Given the description of an element on the screen output the (x, y) to click on. 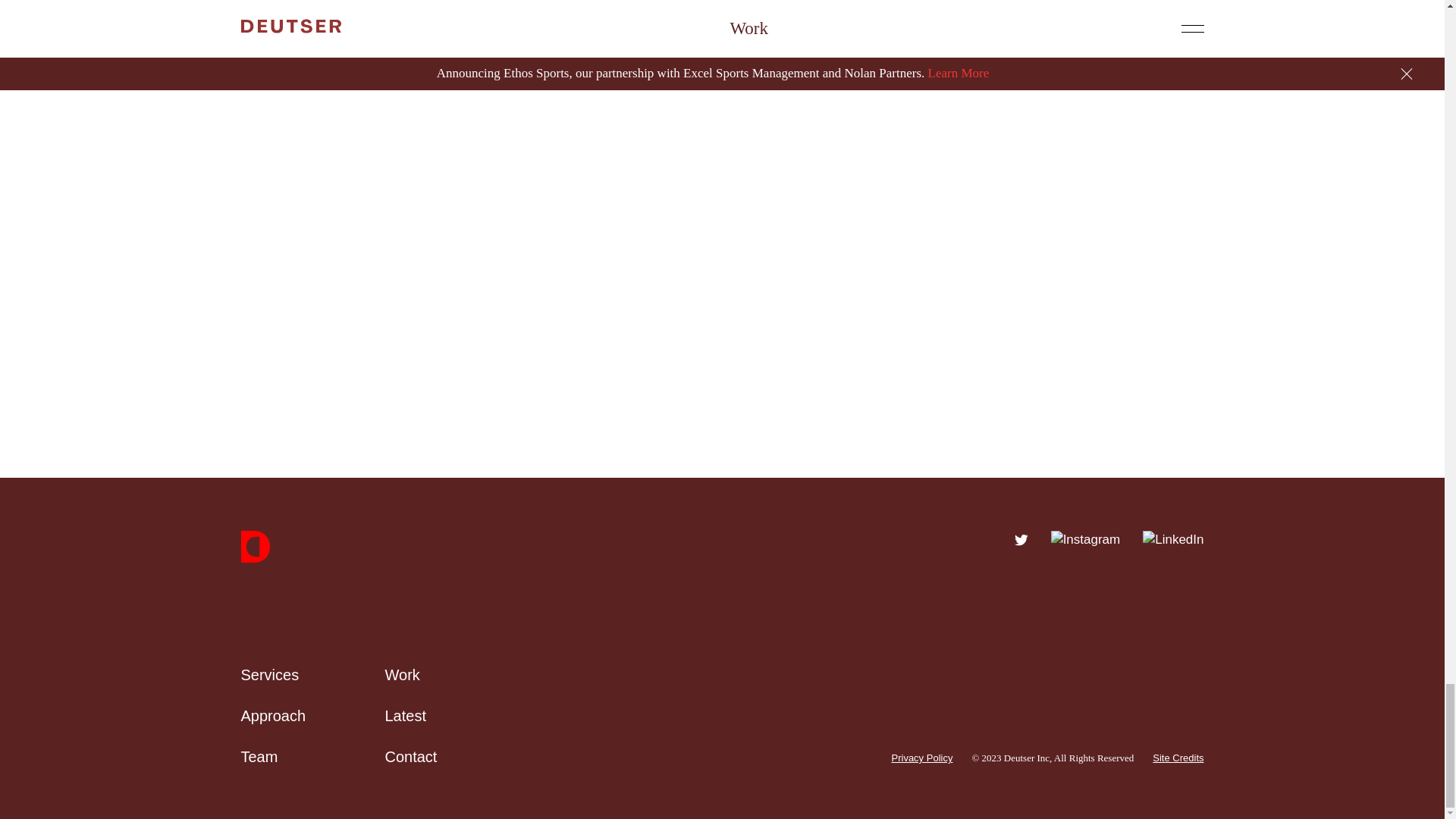
Contact (411, 756)
Latest (405, 715)
Privacy Policy (922, 757)
Let's Chat (721, 306)
Work (402, 674)
Approach (273, 715)
Site Credits (1178, 757)
Team (259, 756)
Services (270, 674)
